Given the description of an element on the screen output the (x, y) to click on. 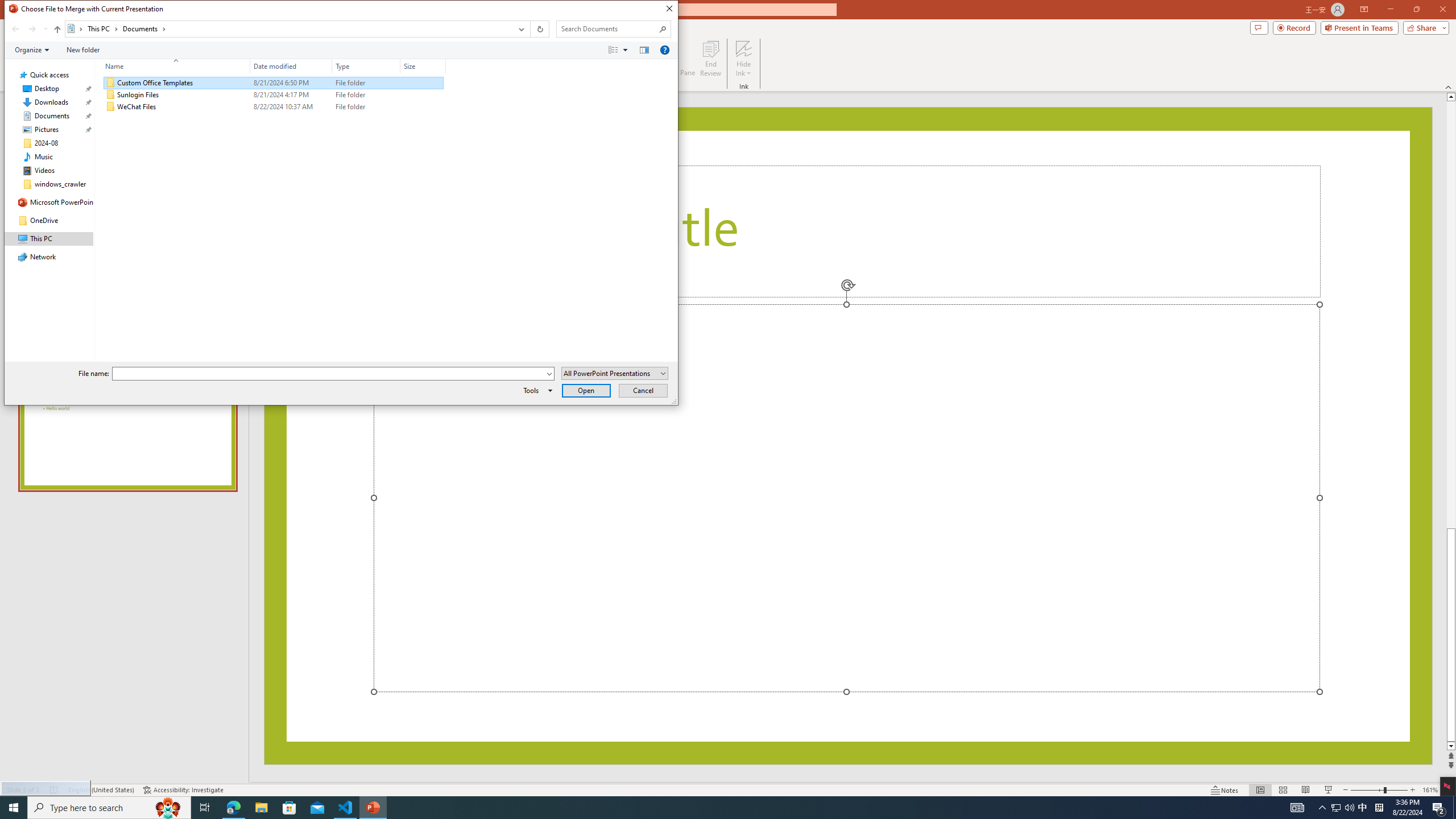
Address: Documents (288, 28)
Zoom 161% (1430, 790)
Type (365, 65)
Size (422, 65)
Back (Alt + Left Arrow) (15, 28)
Address band toolbar (529, 28)
Recent locations (44, 28)
All locations (75, 28)
Size (422, 106)
